Given the description of an element on the screen output the (x, y) to click on. 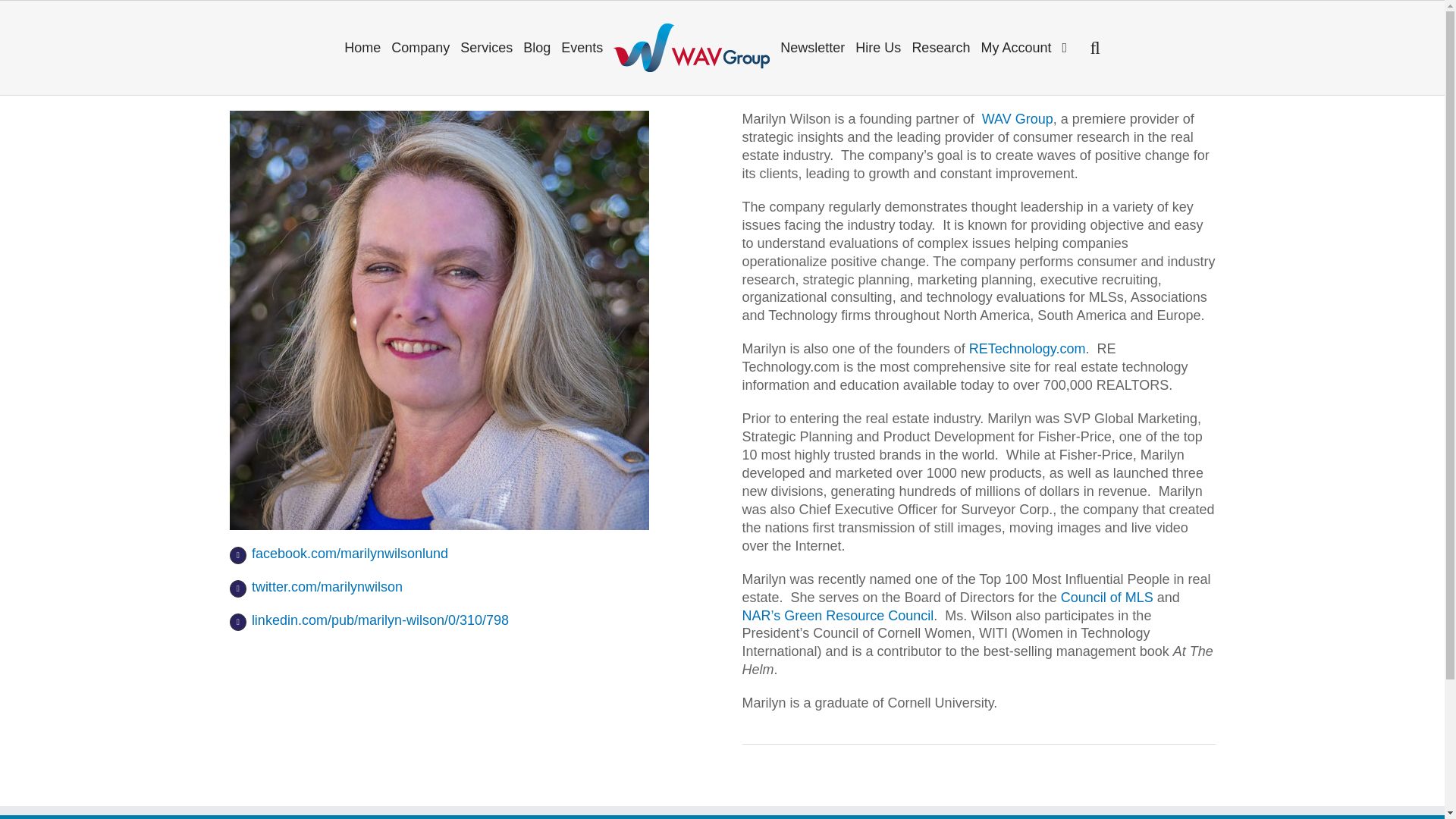
My Account (1016, 47)
Home (362, 47)
Events (582, 47)
Services (486, 47)
Hire Us (877, 47)
Research (940, 47)
Company (419, 47)
Log In (1069, 181)
Newsletter (812, 47)
